Given the description of an element on the screen output the (x, y) to click on. 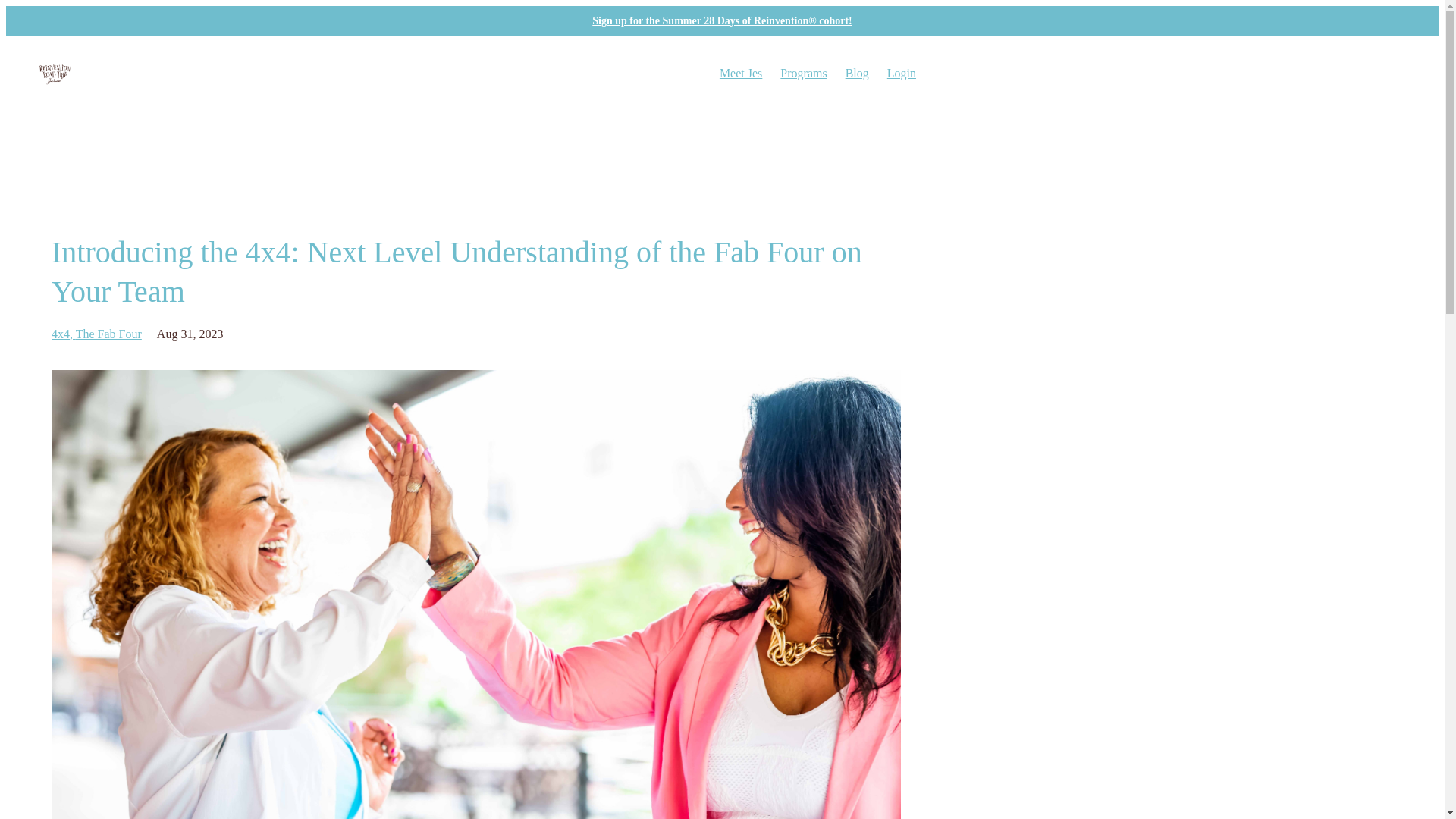
Blog (857, 73)
Login (900, 73)
The Fab Four (108, 333)
Meet Jes (740, 73)
Programs (803, 73)
4x4 (62, 333)
